Given the description of an element on the screen output the (x, y) to click on. 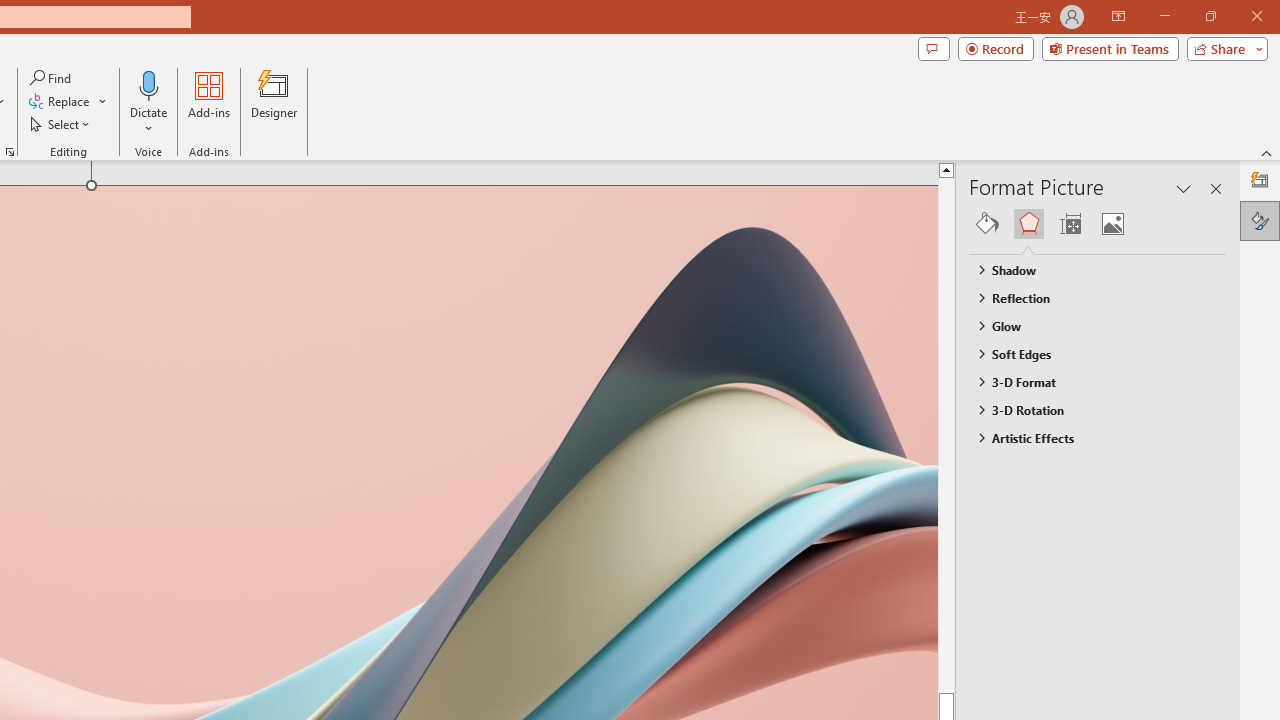
Size & Properties (1070, 223)
Fill & Line (987, 223)
Effects (1028, 223)
Glow (1088, 325)
Reflection (1088, 297)
